Given the description of an element on the screen output the (x, y) to click on. 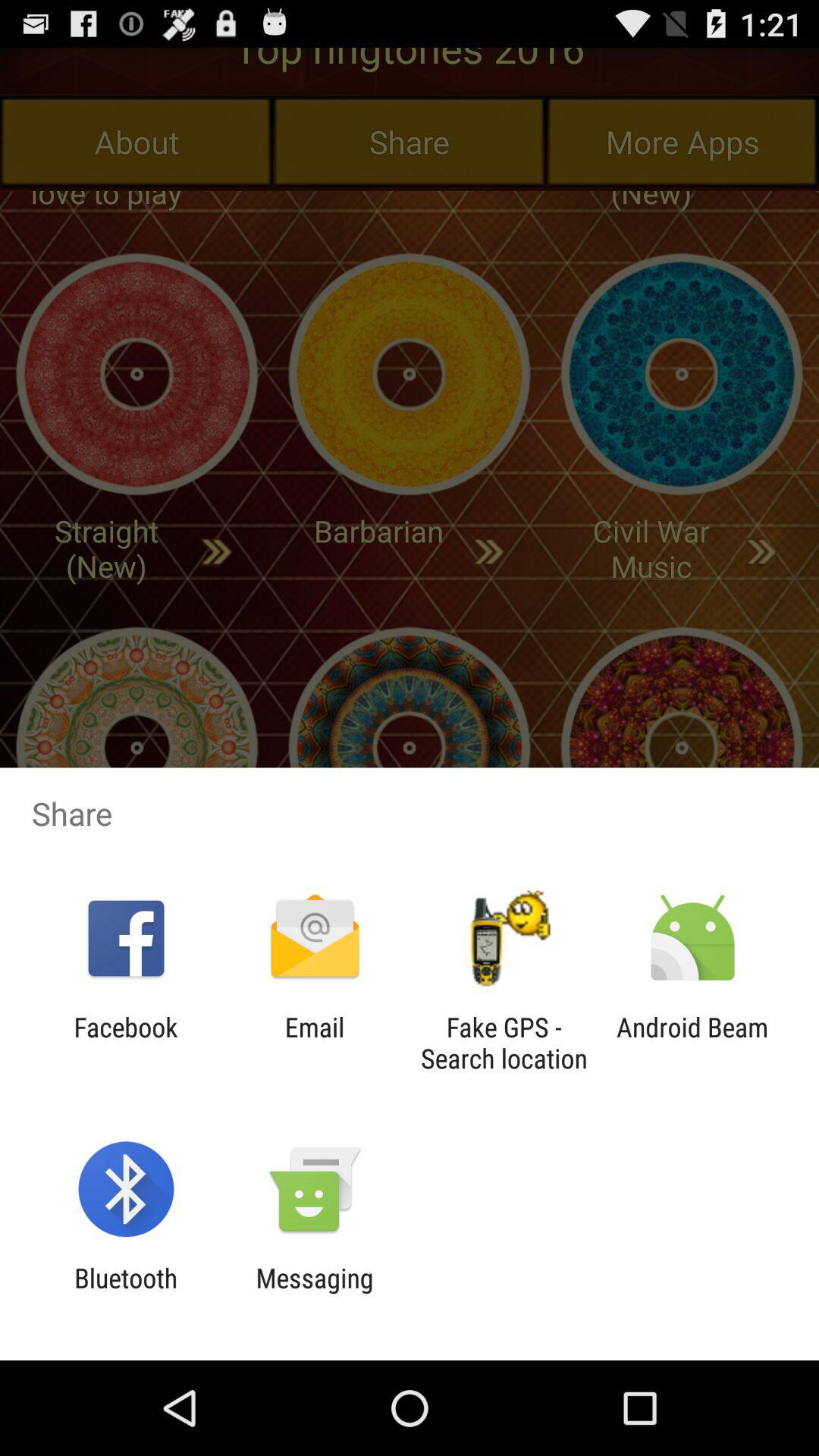
flip until the android beam app (692, 1042)
